Given the description of an element on the screen output the (x, y) to click on. 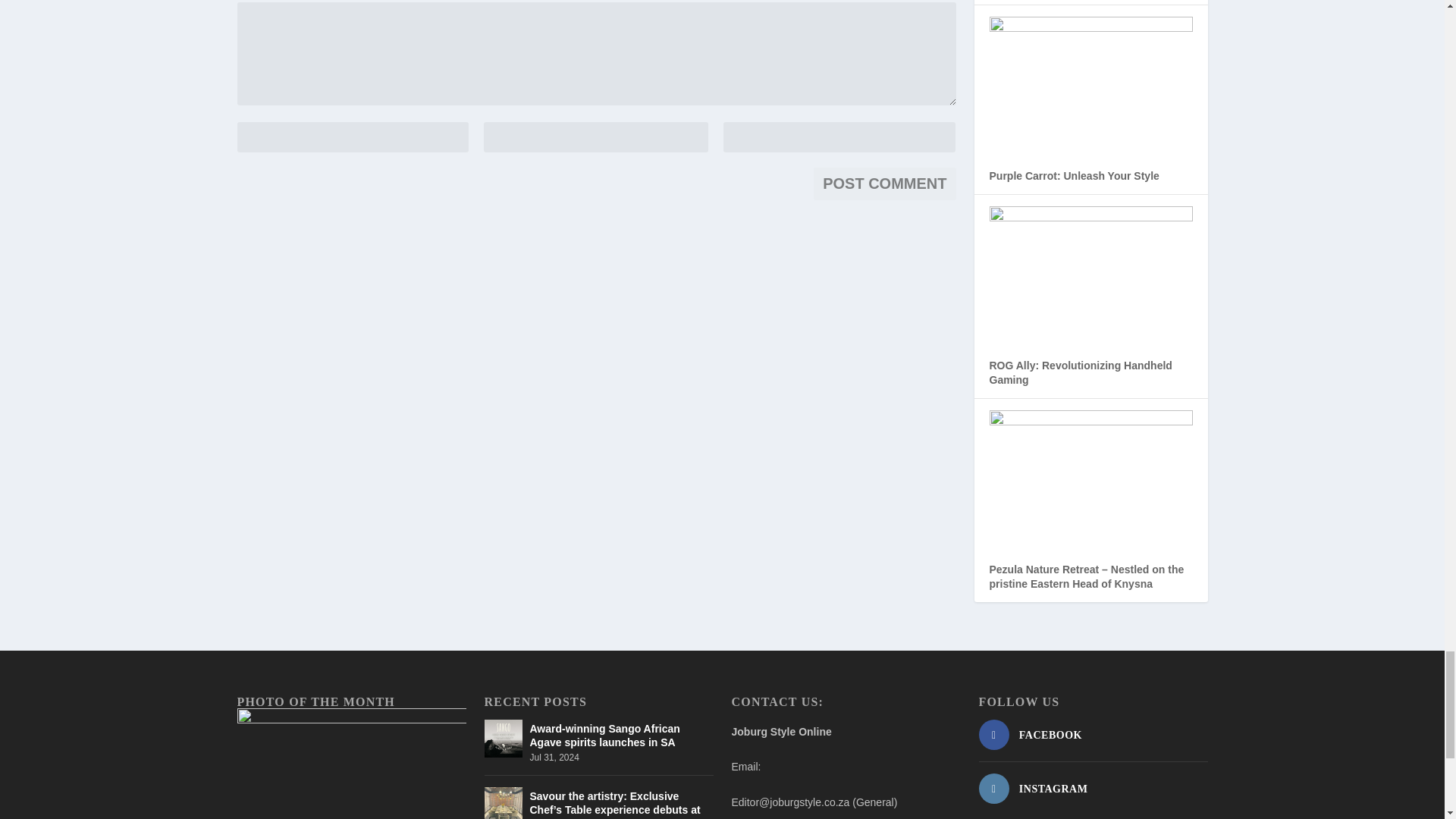
Photo of the Week (350, 763)
Post Comment (884, 183)
